Given the description of an element on the screen output the (x, y) to click on. 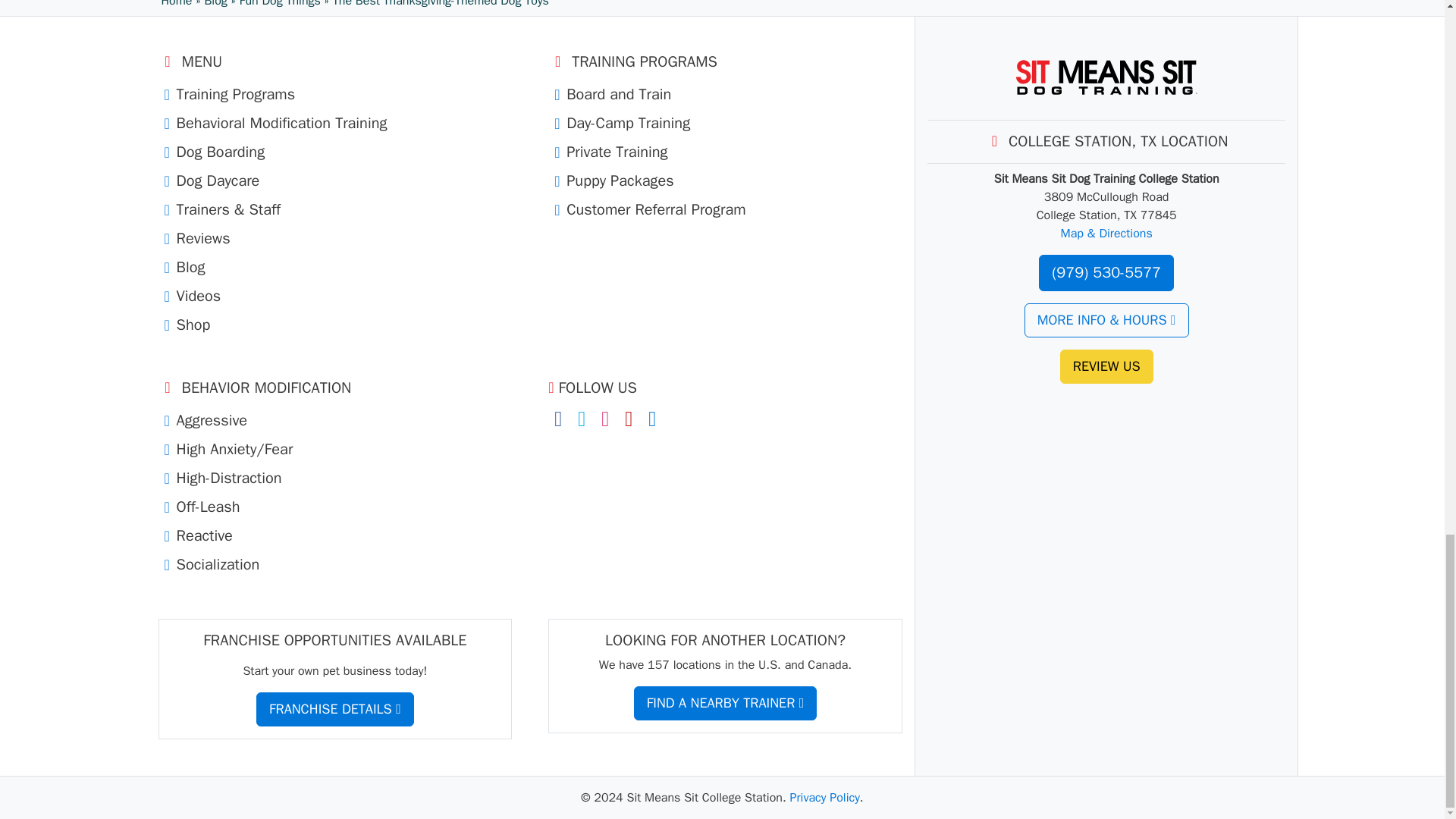
Sit Means Sit College Station (1106, 77)
Franchise Info (334, 709)
